Given the description of an element on the screen output the (x, y) to click on. 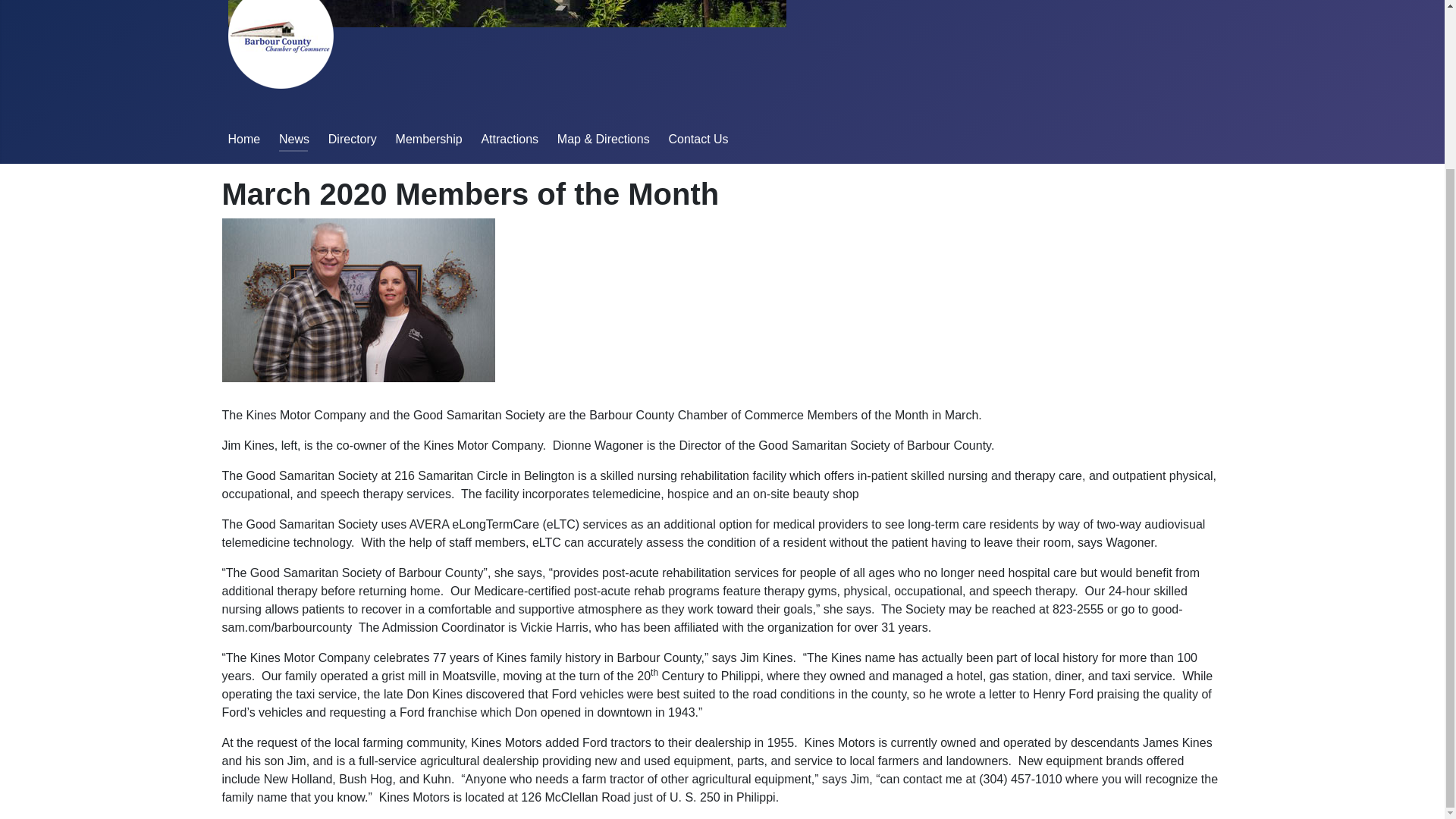
Home (243, 138)
News (293, 138)
Membership (429, 138)
Contact Us (698, 138)
Directory (353, 138)
Attractions (509, 138)
